Given the description of an element on the screen output the (x, y) to click on. 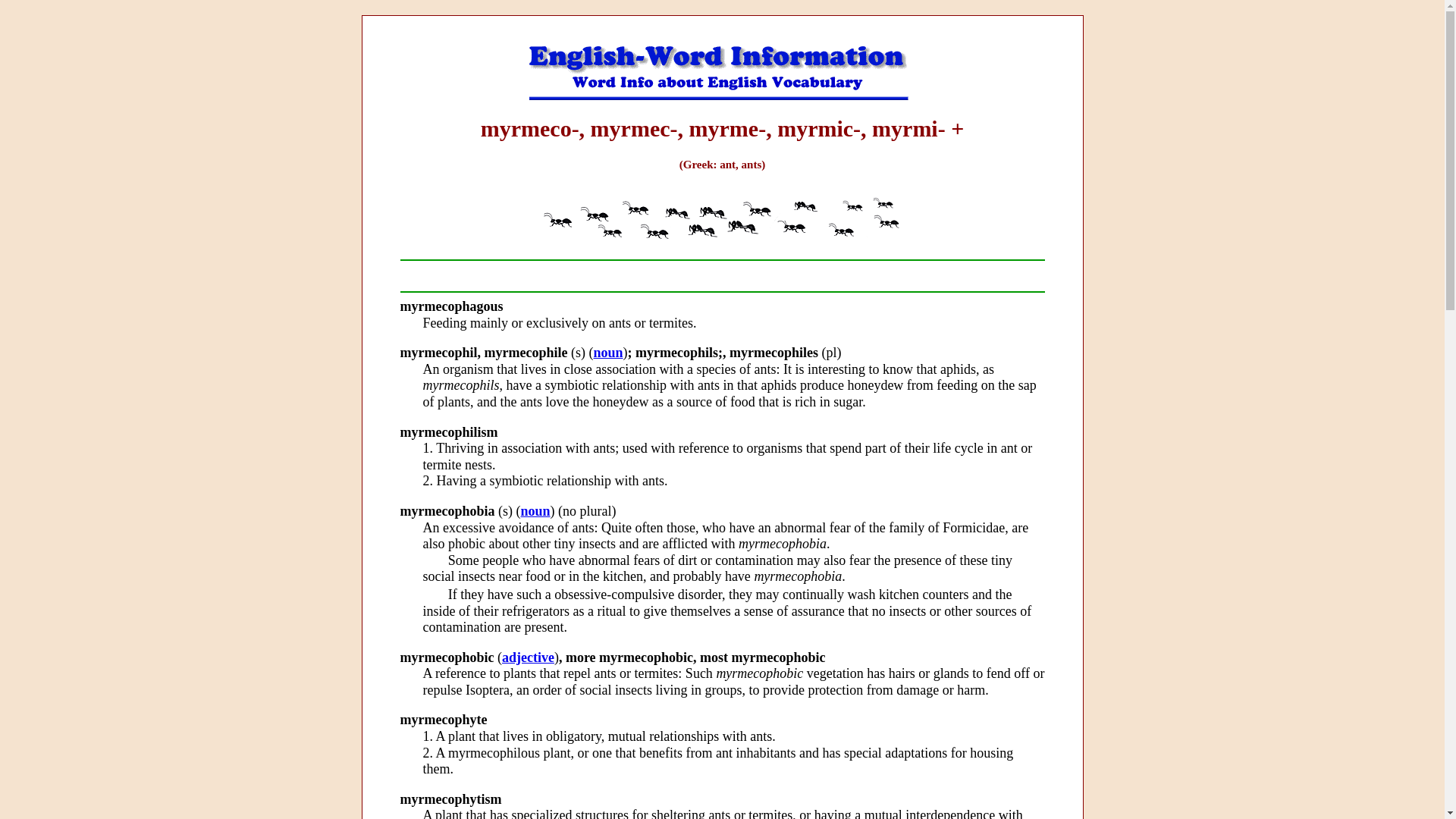
noun (534, 510)
adjective (528, 657)
noun (607, 352)
